Given the description of an element on the screen output the (x, y) to click on. 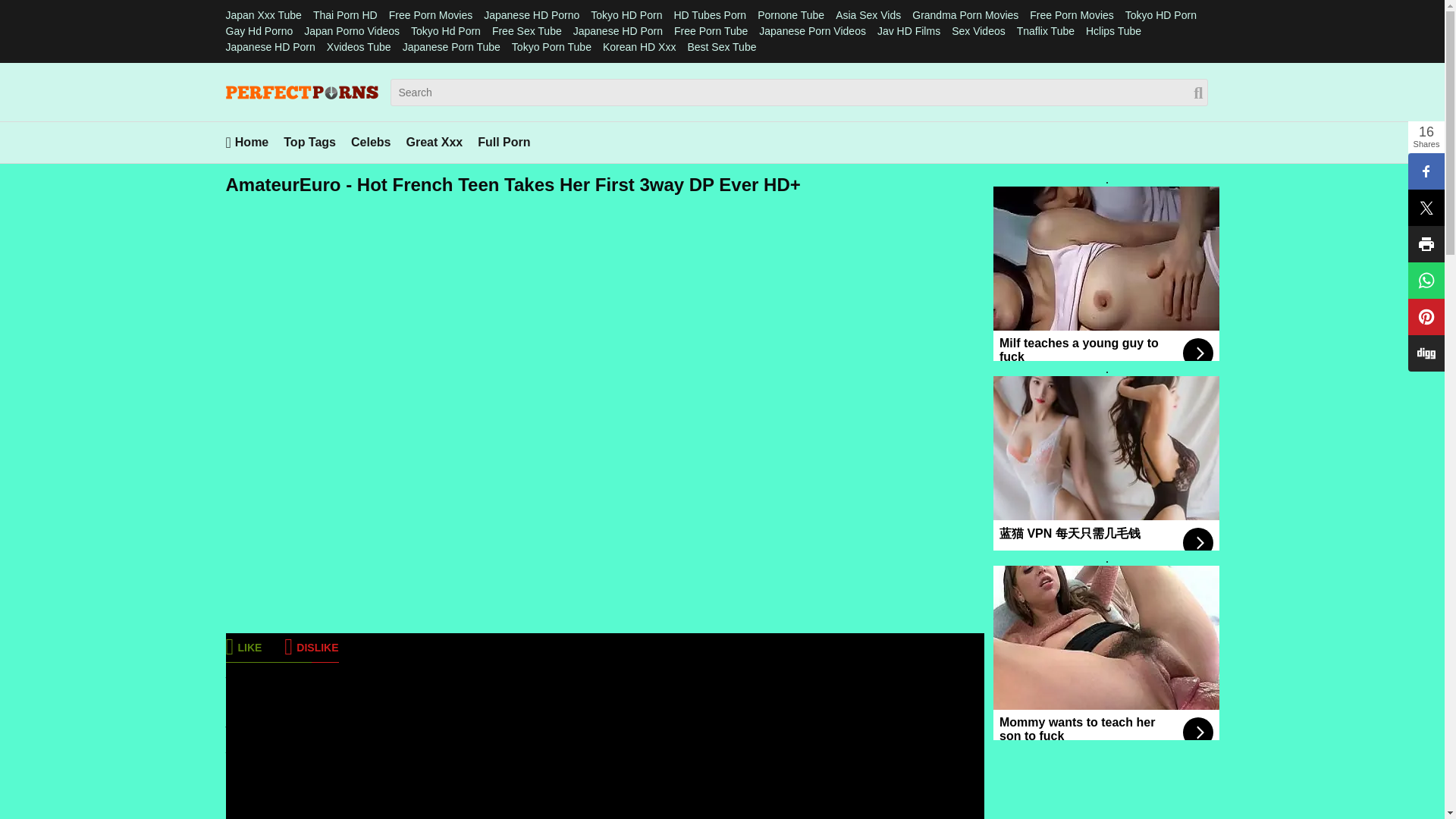
Japan Xxx Tube (263, 15)
Asia Sex Vids (868, 15)
Great Xxx (434, 141)
Tokyo HD Porn (626, 15)
HD Tubes Porn (708, 15)
Home (247, 141)
LIKE (243, 646)
Thai Porn HD (345, 15)
Tnaflix Tube (1045, 30)
Japanese HD Porno (531, 15)
